Given the description of an element on the screen output the (x, y) to click on. 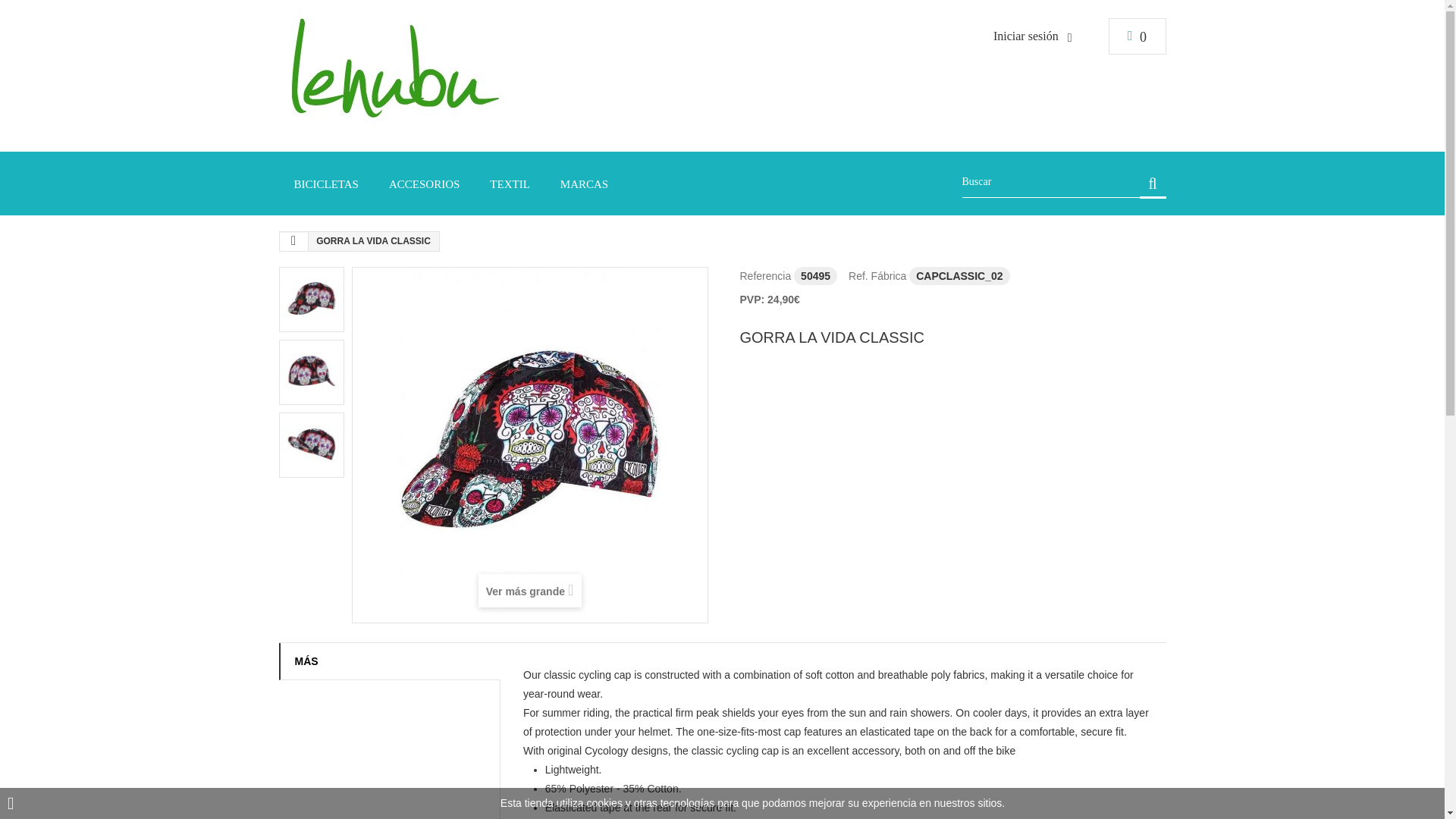
Ver mi carrito de compra (1137, 36)
0 (1137, 36)
Bicicletas (326, 183)
BICICLETAS (326, 183)
ACCESORIOS (424, 183)
Accesorios (424, 183)
